Given the description of an element on the screen output the (x, y) to click on. 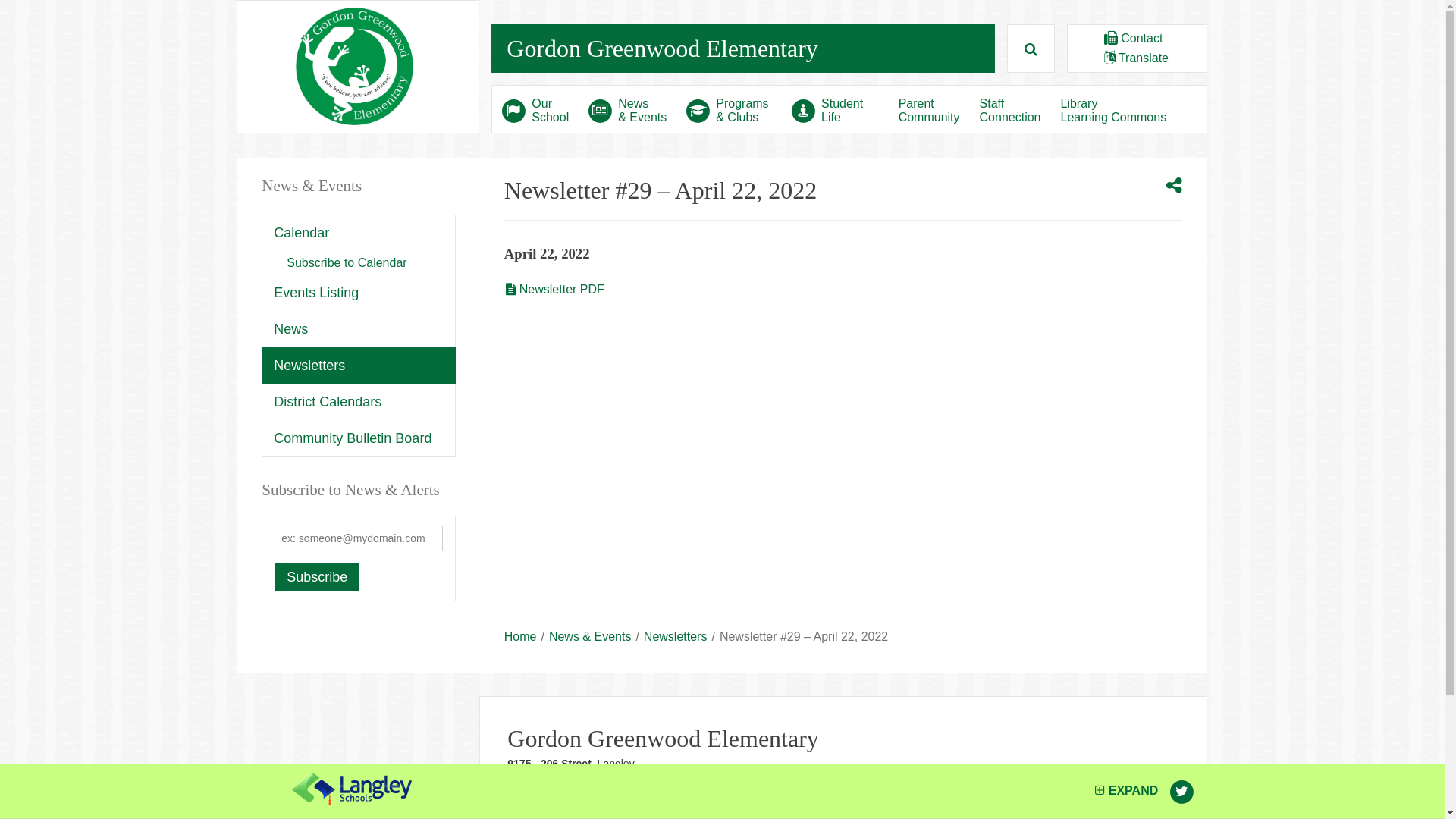
Subscribe Element type: text (316, 577)
Newsletter PDF Element type: text (554, 288)
News 
& Events Element type: text (627, 108)
Community Bulletin Board Element type: text (358, 438)
Calendar Element type: text (358, 232)
News Element type: text (358, 329)
Events Listing Element type: text (358, 292)
 Translate Element type: text (1136, 57)
Parent 
Community Element type: text (928, 108)
Programs 
& Clubs Element type: text (728, 108)
Our 
School Element type: text (535, 108)
 EXPAND Element type: text (1126, 790)
District Calendars Element type: text (358, 401)
News & Events Element type: text (370, 186)
Newsletters Element type: text (358, 365)
Library 
Learning Commons Element type: text (1113, 108)
Staff 
Connection Element type: text (1010, 108)
Home Element type: text (520, 636)
SD35, Langley School District Element type: hover (351, 788)
News & Events Element type: text (589, 636)
Subscribe to Calendar Element type: text (358, 263)
Newsletters Element type: text (675, 636)
Student 
Life Element type: text (828, 108)
 Contact Element type: text (1133, 37)
